Given the description of an element on the screen output the (x, y) to click on. 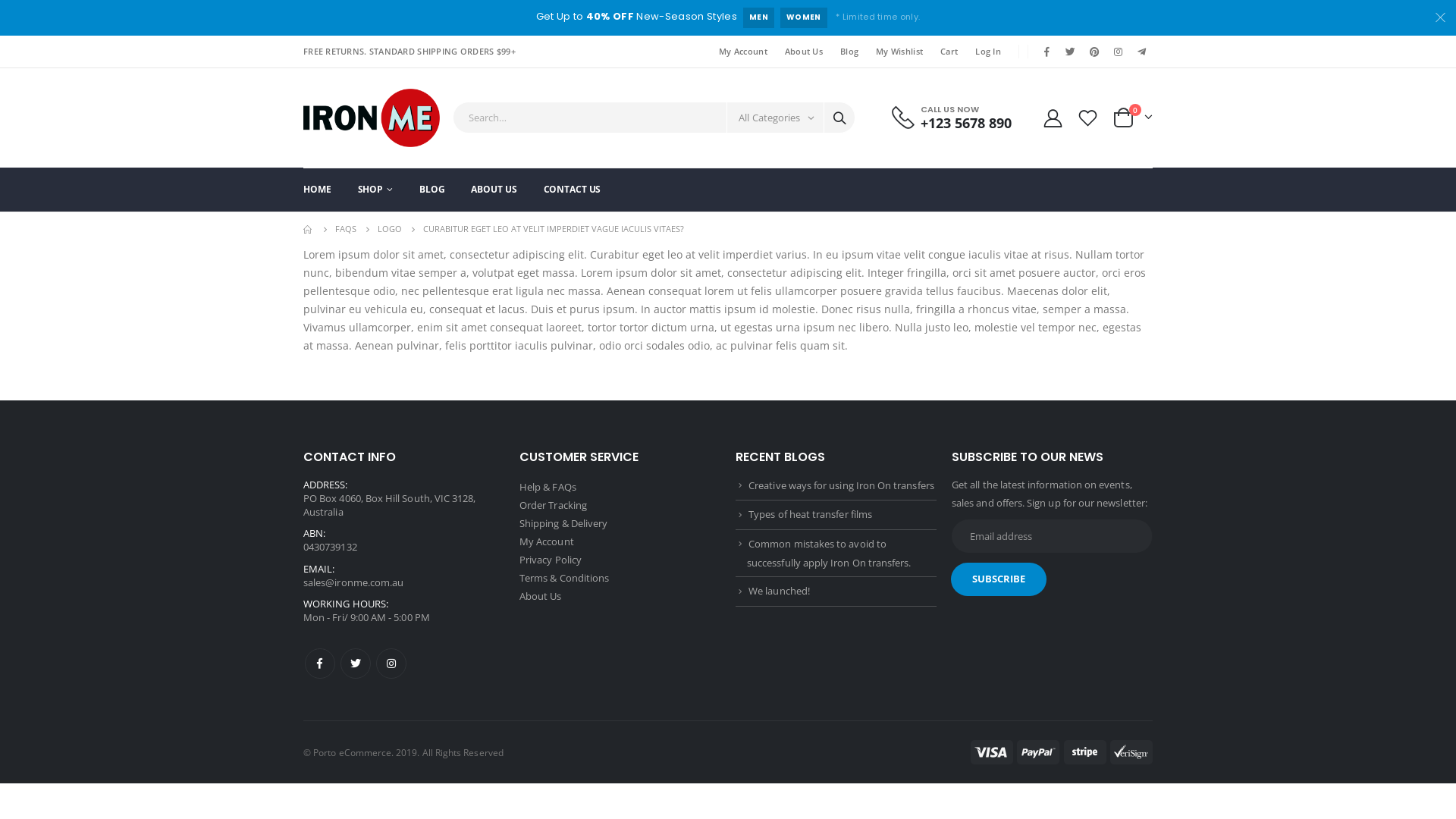
Creative ways for using Iron On transfers Element type: text (841, 485)
sales@ironme.com.au Element type: text (353, 582)
Terms & Conditions Element type: text (563, 577)
Log In Element type: text (988, 51)
Privacy Policy Element type: text (550, 559)
My Account Element type: text (743, 51)
Twitter Element type: text (355, 663)
Help & FAQs Element type: text (547, 486)
BLOG Element type: text (432, 189)
About Us Element type: text (540, 595)
MEN Element type: text (758, 17)
Types of heat transfer films Element type: text (810, 513)
Twitter Element type: hover (1070, 51)
Blog Element type: text (849, 51)
Wishlist Element type: hover (1088, 117)
ABOUT US Element type: text (493, 189)
Telegram Element type: hover (1141, 51)
WOMEN Element type: text (803, 17)
We launched! Element type: text (778, 590)
SHOP Element type: text (374, 189)
Go to Home Page Element type: hover (308, 228)
Order Tracking Element type: text (552, 504)
My Account Element type: hover (1052, 117)
Instagram Element type: text (391, 663)
Pinterest Element type: hover (1094, 51)
Shipping & Delivery Element type: text (563, 523)
Iron Me - Heat transfer specialists Element type: hover (371, 117)
Cart Element type: text (948, 51)
FAQS Element type: text (345, 228)
SUBSCRIBE Element type: text (998, 579)
HOME Element type: text (317, 189)
CONTACT US Element type: text (572, 189)
Facebook Element type: hover (1047, 51)
Search Element type: hover (839, 117)
About Us Element type: text (803, 51)
LOGO Element type: text (389, 228)
My Wishlist Element type: text (899, 51)
Instagram Element type: hover (1118, 51)
Facebook Element type: text (319, 663)
My Account Element type: text (546, 541)
